Given the description of an element on the screen output the (x, y) to click on. 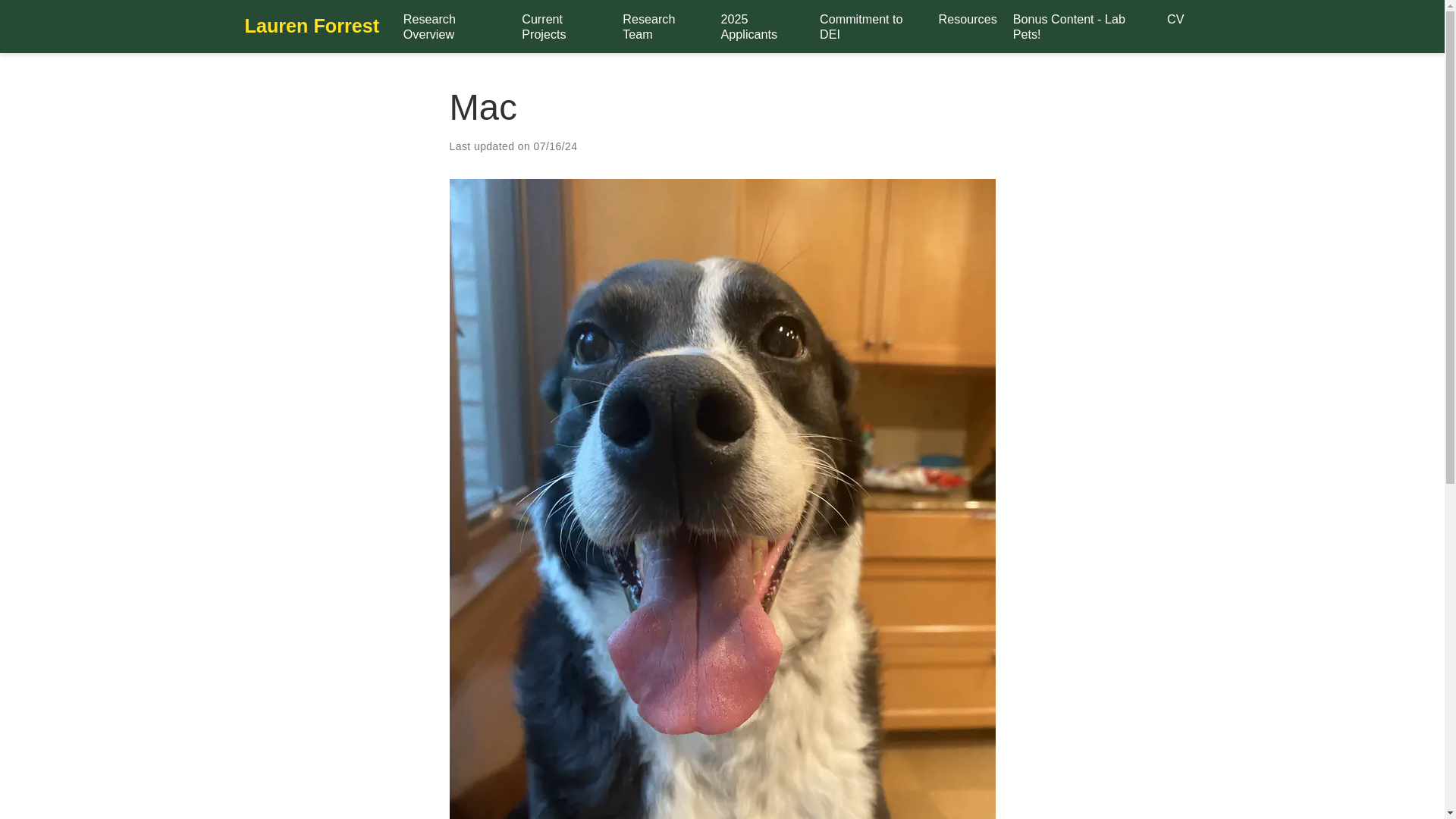
Current Projects (563, 26)
Bonus Content - Lab Pets! (1081, 26)
2025 Applicants (761, 26)
Commitment to DEI (871, 26)
CV (1175, 18)
Research Team (663, 26)
Lauren Forrest (311, 26)
Resources (967, 18)
Research Overview (453, 26)
